Given the description of an element on the screen output the (x, y) to click on. 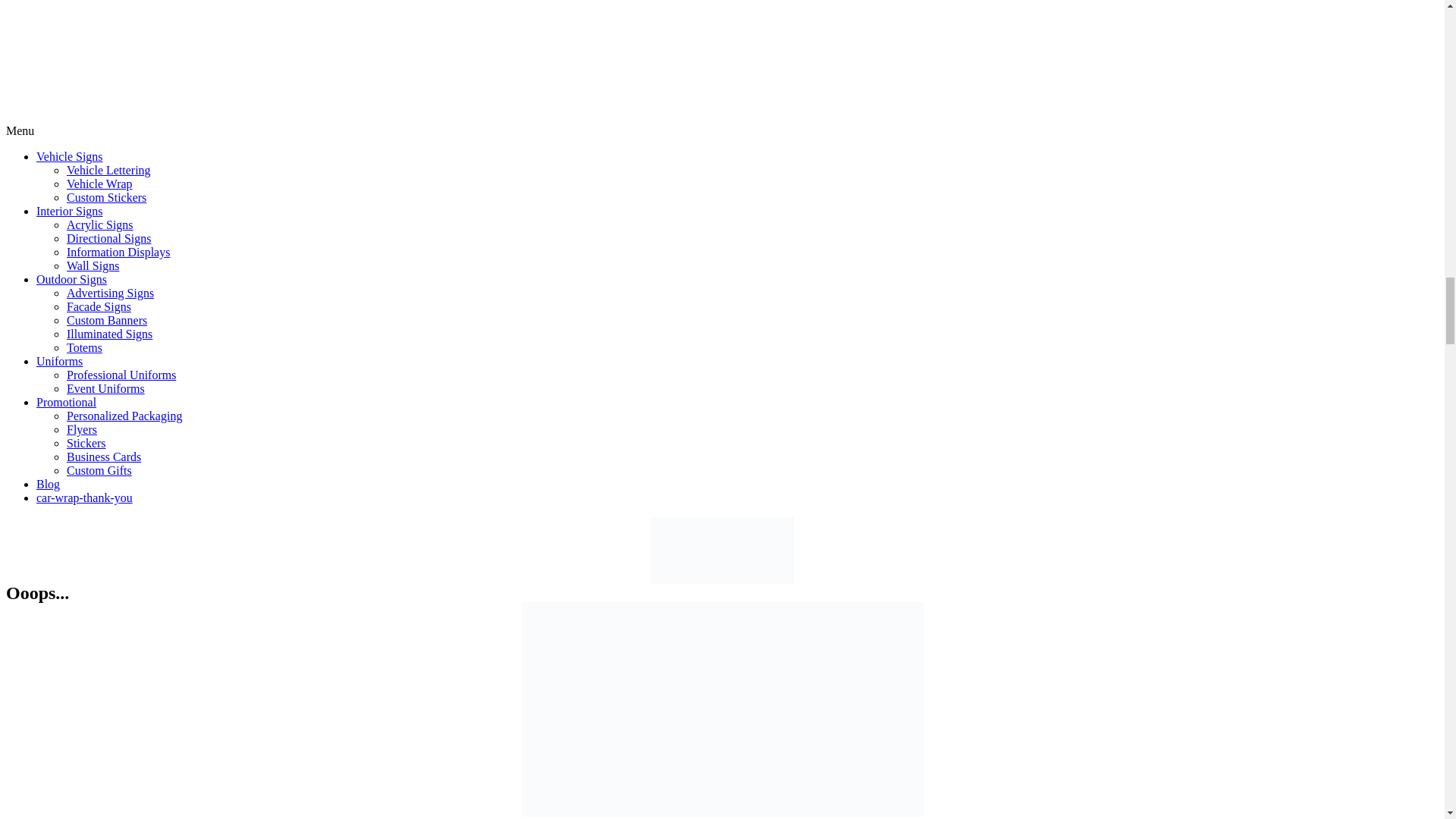
Vehicle Lettering (108, 169)
Information Displays (118, 251)
Custom Stickers (106, 196)
Acrylic Signs (99, 224)
Interior Signs (69, 210)
Directional Signs (108, 237)
Outdoor Signs (71, 278)
Wall Signs (92, 265)
Vehicle Wrap (99, 183)
Vehicle Signs (69, 155)
